Given the description of an element on the screen output the (x, y) to click on. 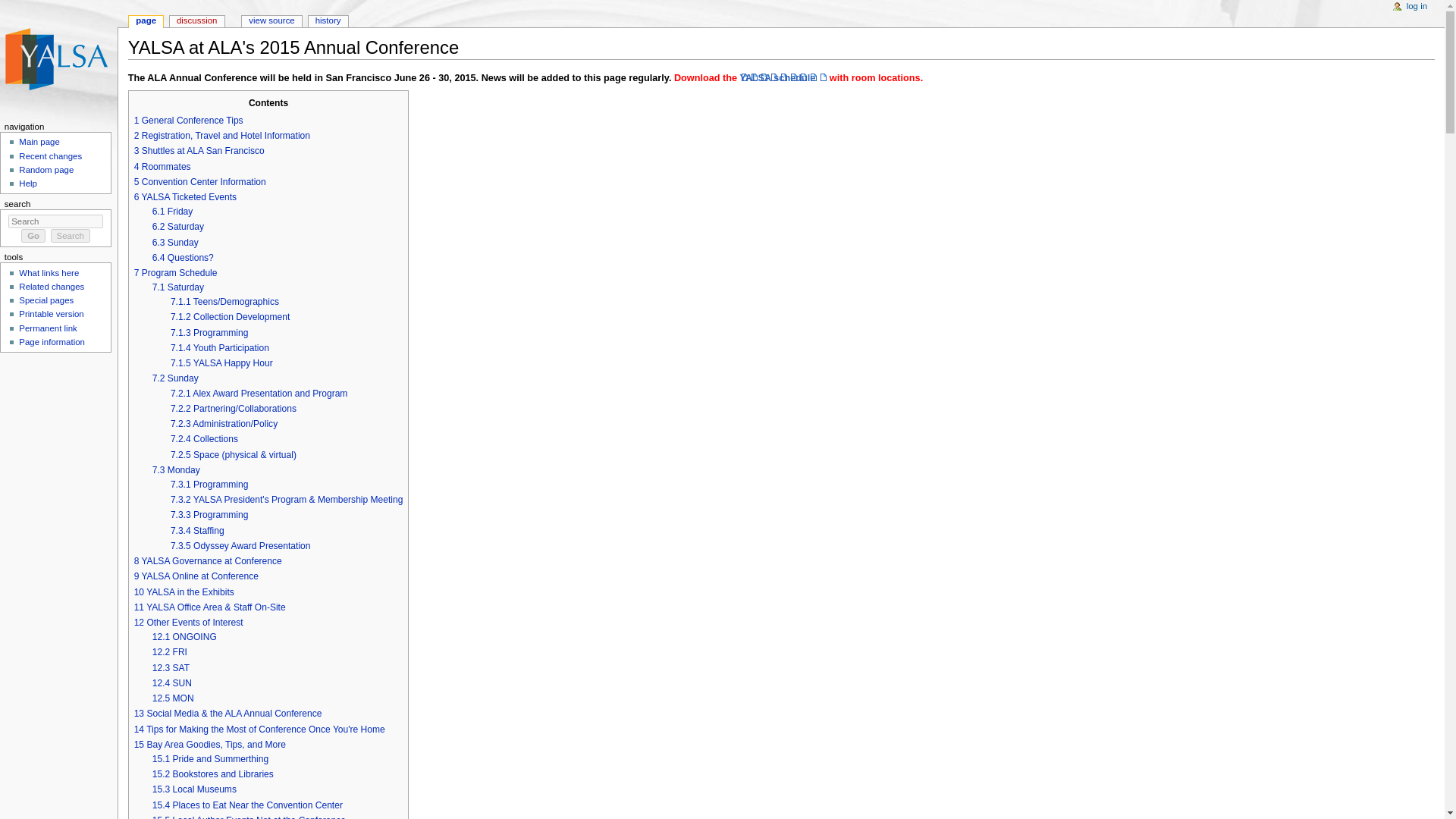
6 YALSA Ticketed Events (185, 196)
12.2 FRI (169, 652)
7.3.4 Staffing (197, 530)
5 Convention Center Information (199, 181)
7.1.3 Programming (208, 332)
6.3 Sunday (175, 242)
3 Shuttles at ALA San Francisco (198, 150)
12.1 ONGOING (184, 636)
Go (33, 235)
Search (70, 235)
7.1.5 YALSA Happy Hour (221, 362)
YALSA schedule (783, 77)
7 Program Schedule (174, 272)
The place to find out (27, 183)
12 Other Events of Interest (188, 622)
